Given the description of an element on the screen output the (x, y) to click on. 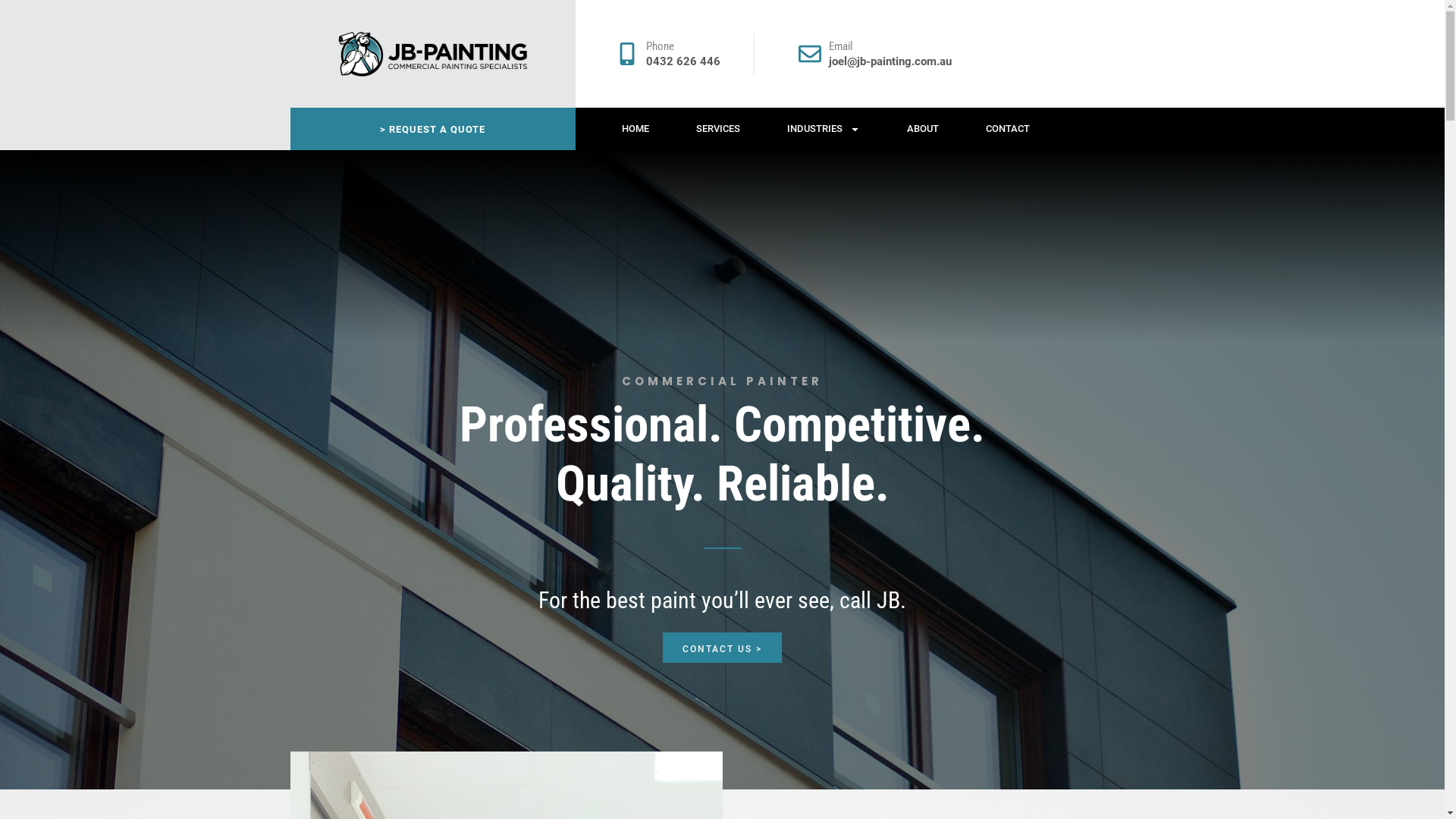
Phone Element type: text (660, 46)
CONTACT Element type: text (1007, 128)
ABOUT Element type: text (922, 128)
SERVICES Element type: text (717, 128)
INDUSTRIES Element type: text (823, 128)
Email Element type: text (840, 46)
CONTACT US > Element type: text (721, 647)
HOME Element type: text (635, 128)
> REQUEST A QUOTE Element type: text (431, 129)
